Given the description of an element on the screen output the (x, y) to click on. 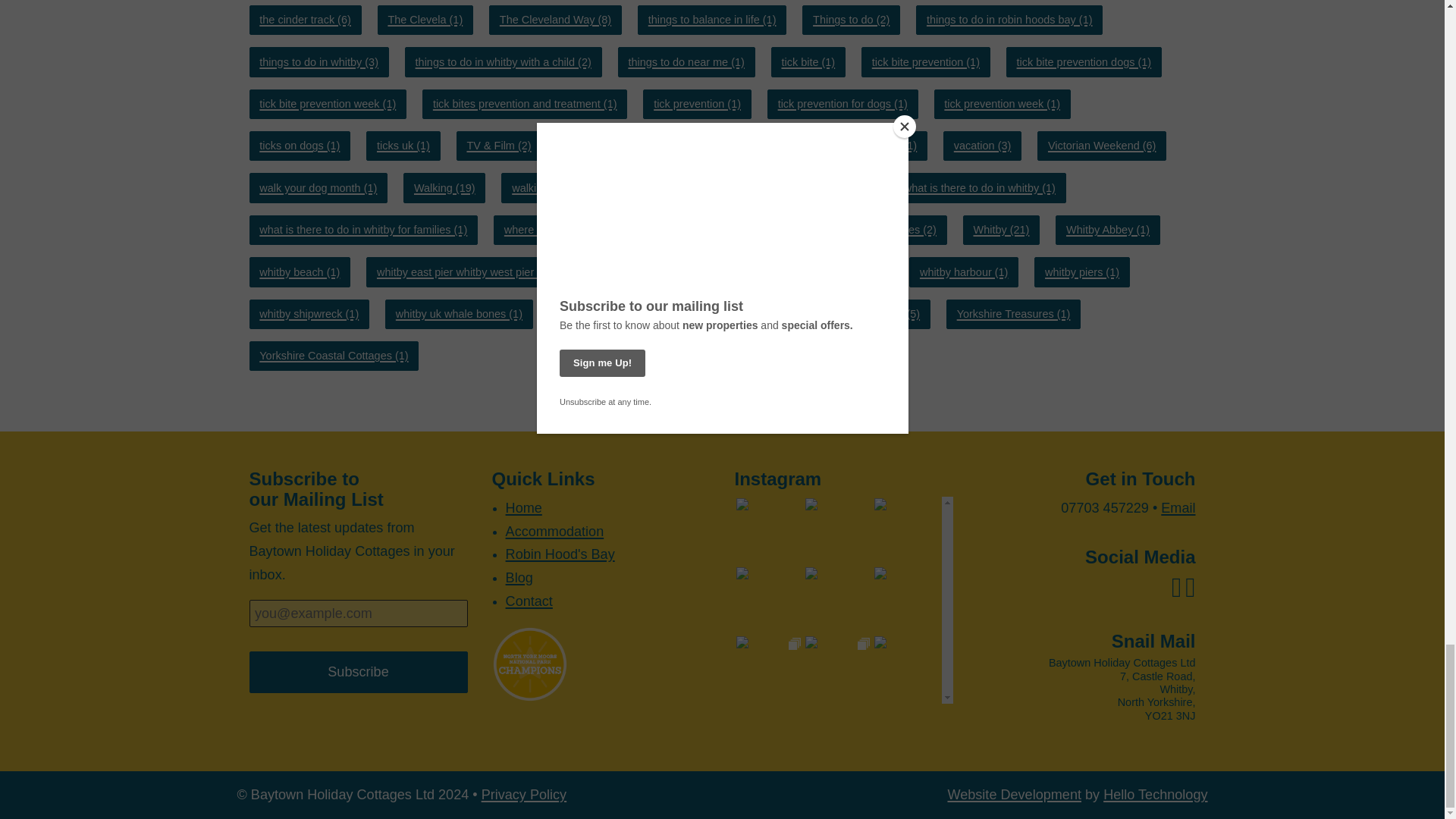
Subscribe (357, 671)
LightWidget Instagram Feed (842, 599)
